Given the description of an element on the screen output the (x, y) to click on. 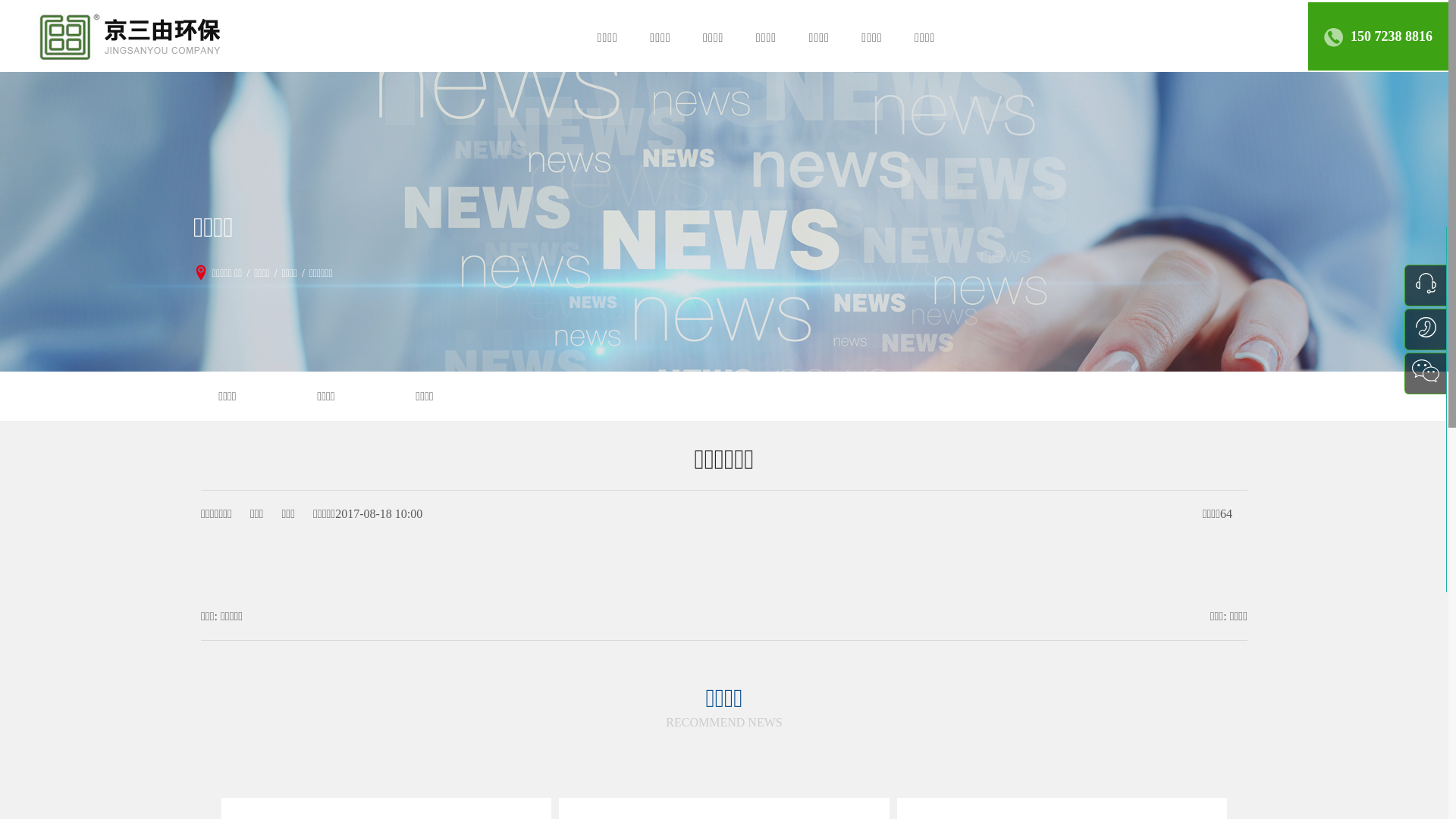
150 7238 8816 Element type: text (1391, 35)
